Given the description of an element on the screen output the (x, y) to click on. 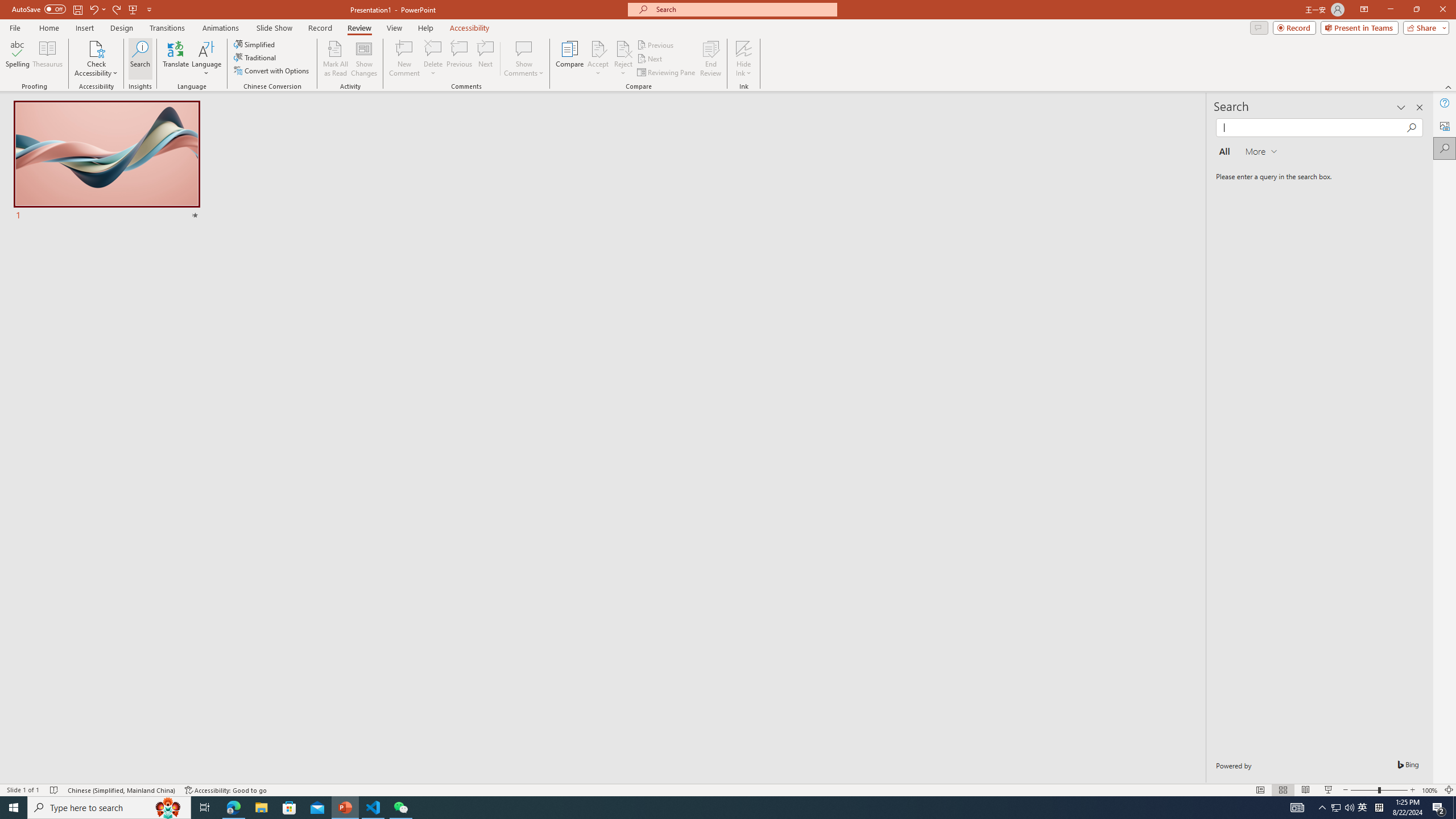
Show Changes (363, 58)
Hide Ink (743, 58)
Check Accessibility (95, 58)
End Review (710, 58)
Translate (175, 58)
